Given the description of an element on the screen output the (x, y) to click on. 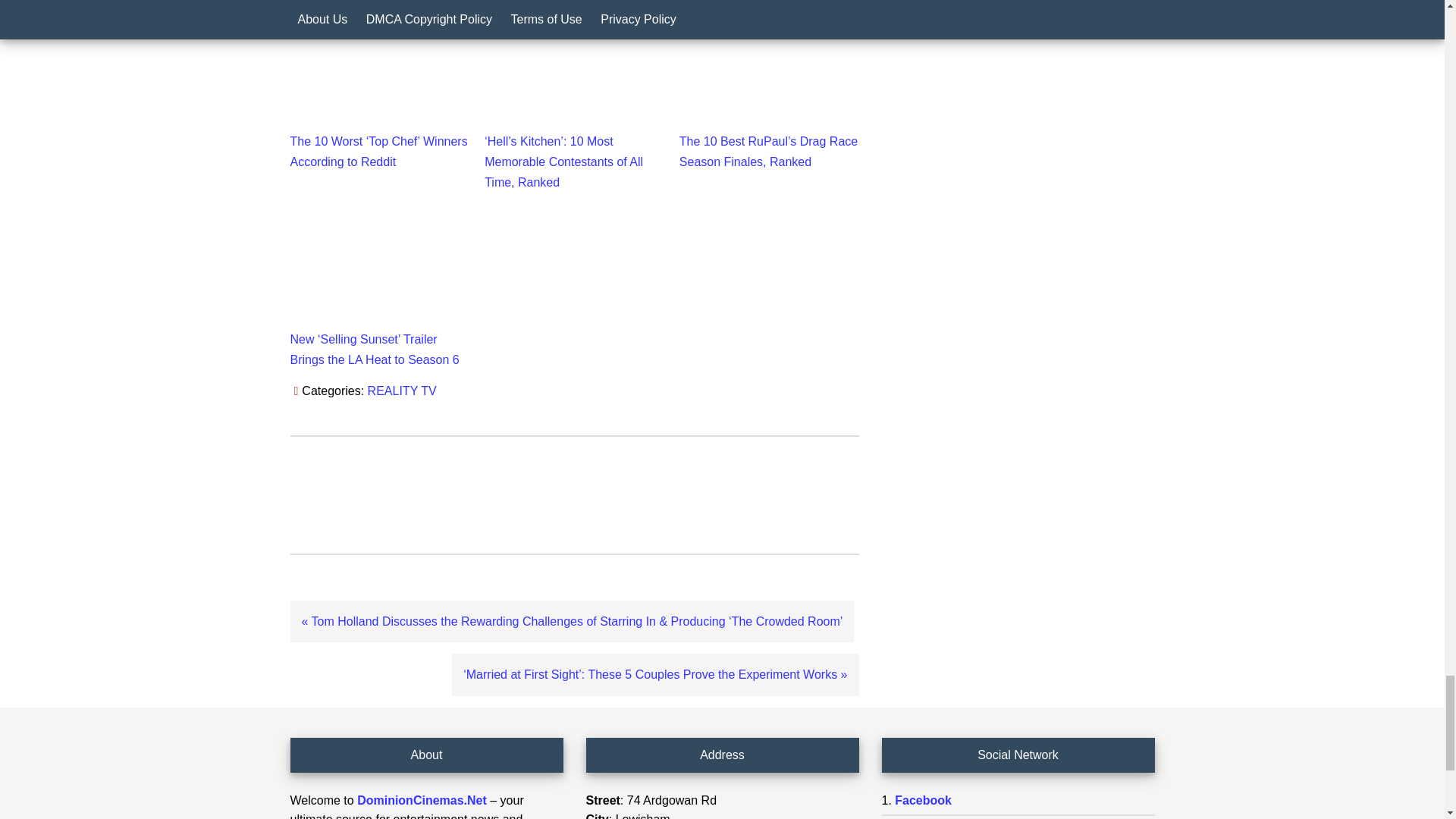
REALITY TV (402, 390)
